Given the description of an element on the screen output the (x, y) to click on. 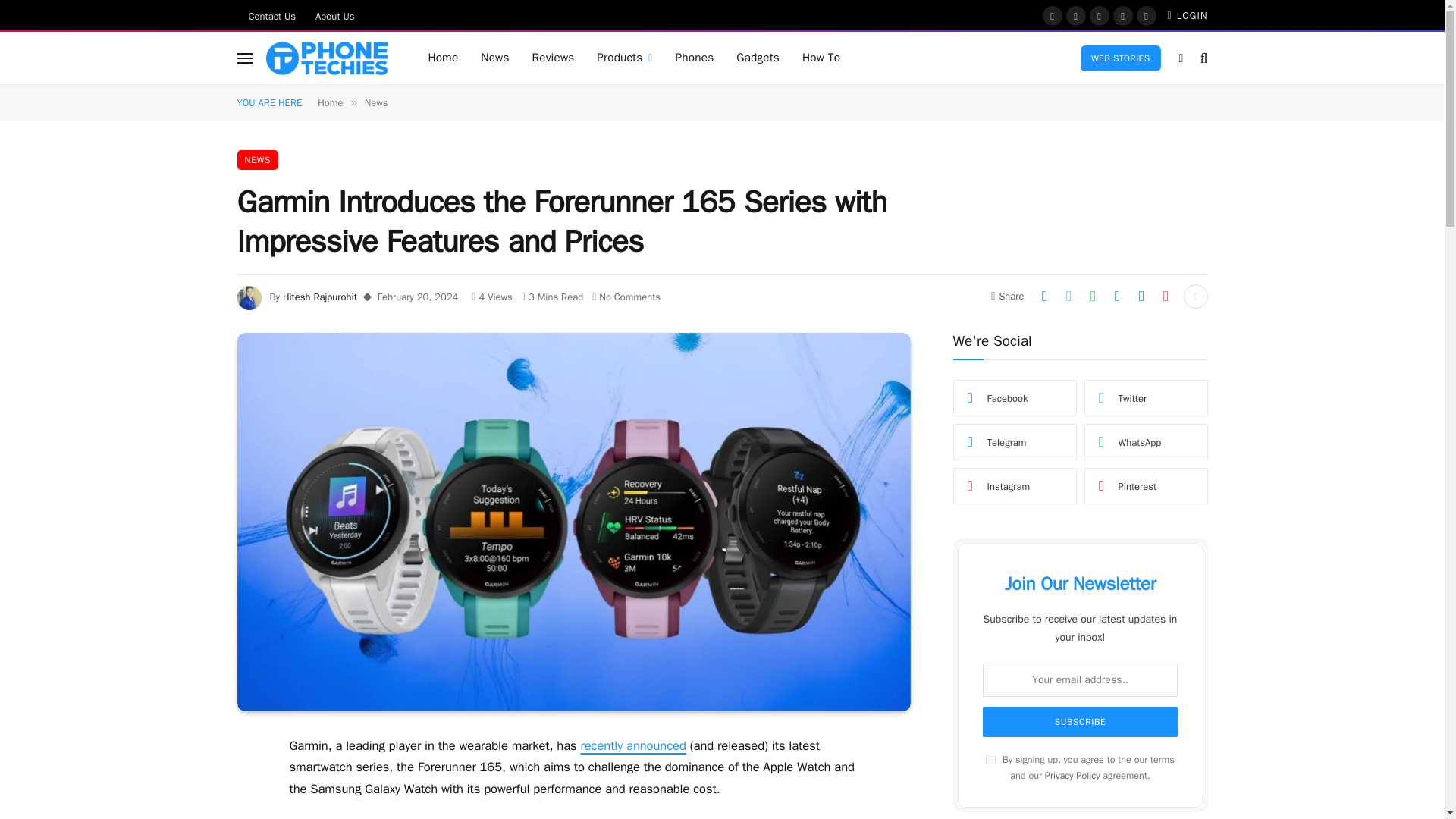
WEB STORIES (1120, 58)
Share on Facebook (1043, 296)
Posts by Hitesh Rajpurohit (319, 296)
4 Article Views (491, 296)
Share on Pinterest (1165, 296)
Share on WhatsApp (1092, 296)
News (493, 57)
Switch to Dark Design - easier on eyes. (1181, 57)
Contact Us (271, 15)
Gadgets (757, 57)
